Given the description of an element on the screen output the (x, y) to click on. 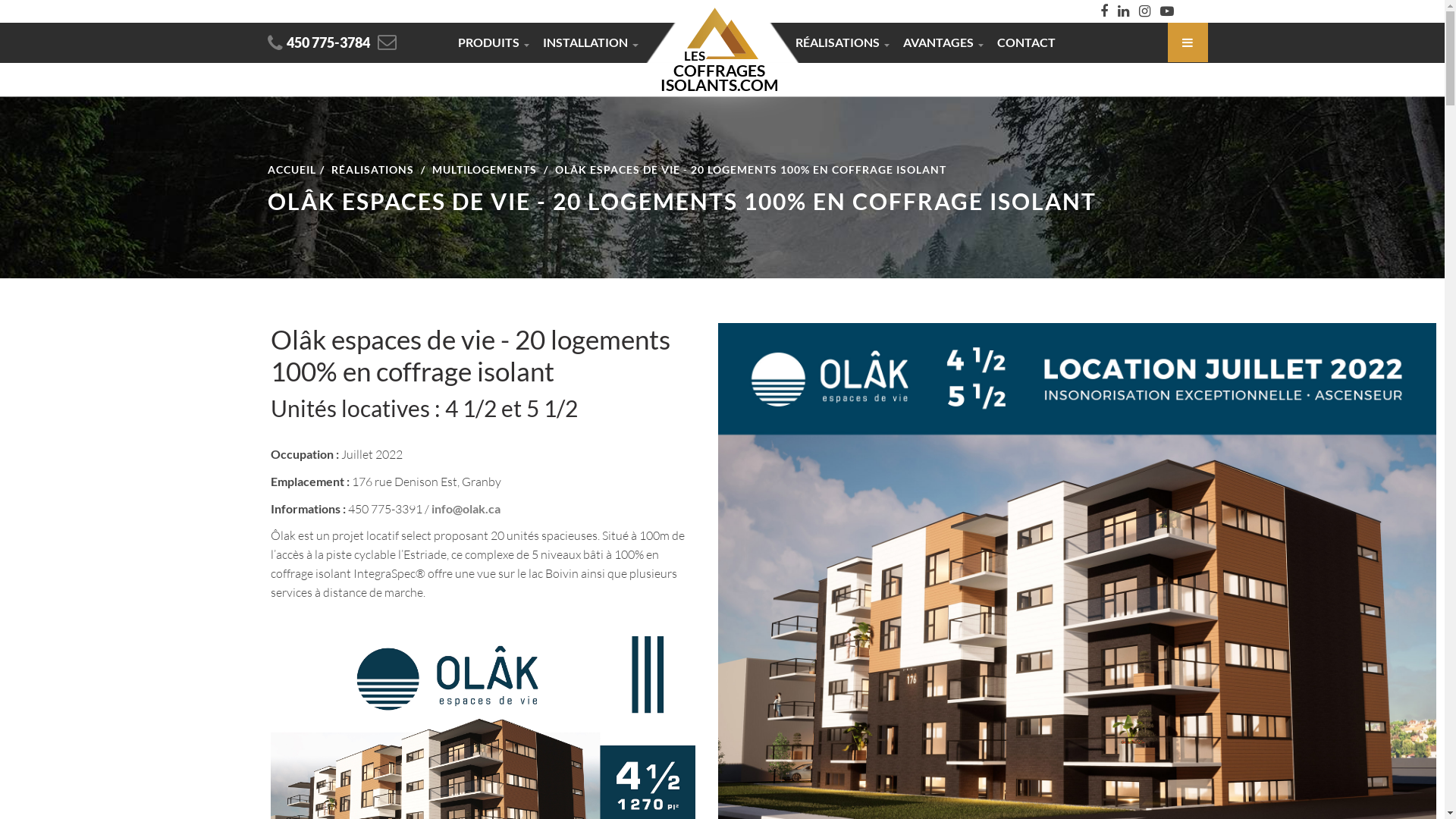
CONTACT Element type: text (1026, 44)
INSTALLATION Element type: text (586, 44)
MULTILOGEMENTS Element type: text (485, 169)
PRODUITS Element type: text (489, 44)
info@olak.ca Element type: text (465, 508)
AVANTAGES Element type: text (939, 44)
ACCUEIL Element type: text (290, 169)
